Given the description of an element on the screen output the (x, y) to click on. 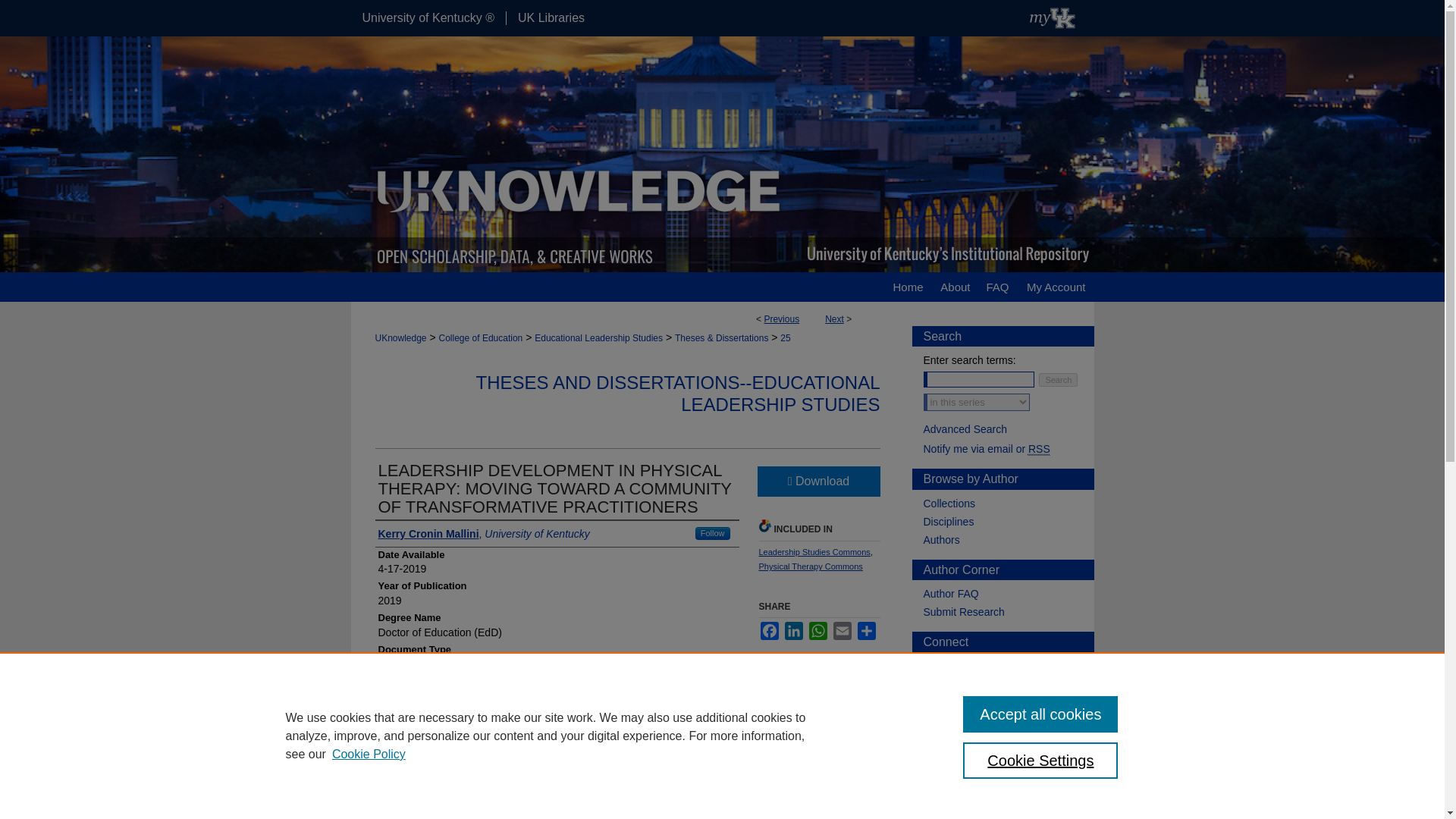
FAQ (996, 286)
About (954, 286)
Home (907, 286)
College of Education (480, 337)
Kerry Cronin Mallini, University of Kentucky (483, 533)
LinkedIn (793, 630)
THESES AND DISSERTATIONS--EDUCATIONAL LEADERSHIP STUDIES (678, 393)
Email (841, 630)
Leadership Studies Commons (813, 551)
About (954, 286)
Physical Therapy Commons (809, 565)
Collections (1008, 503)
Notify me via email or RSS (1008, 449)
